Given the description of an element on the screen output the (x, y) to click on. 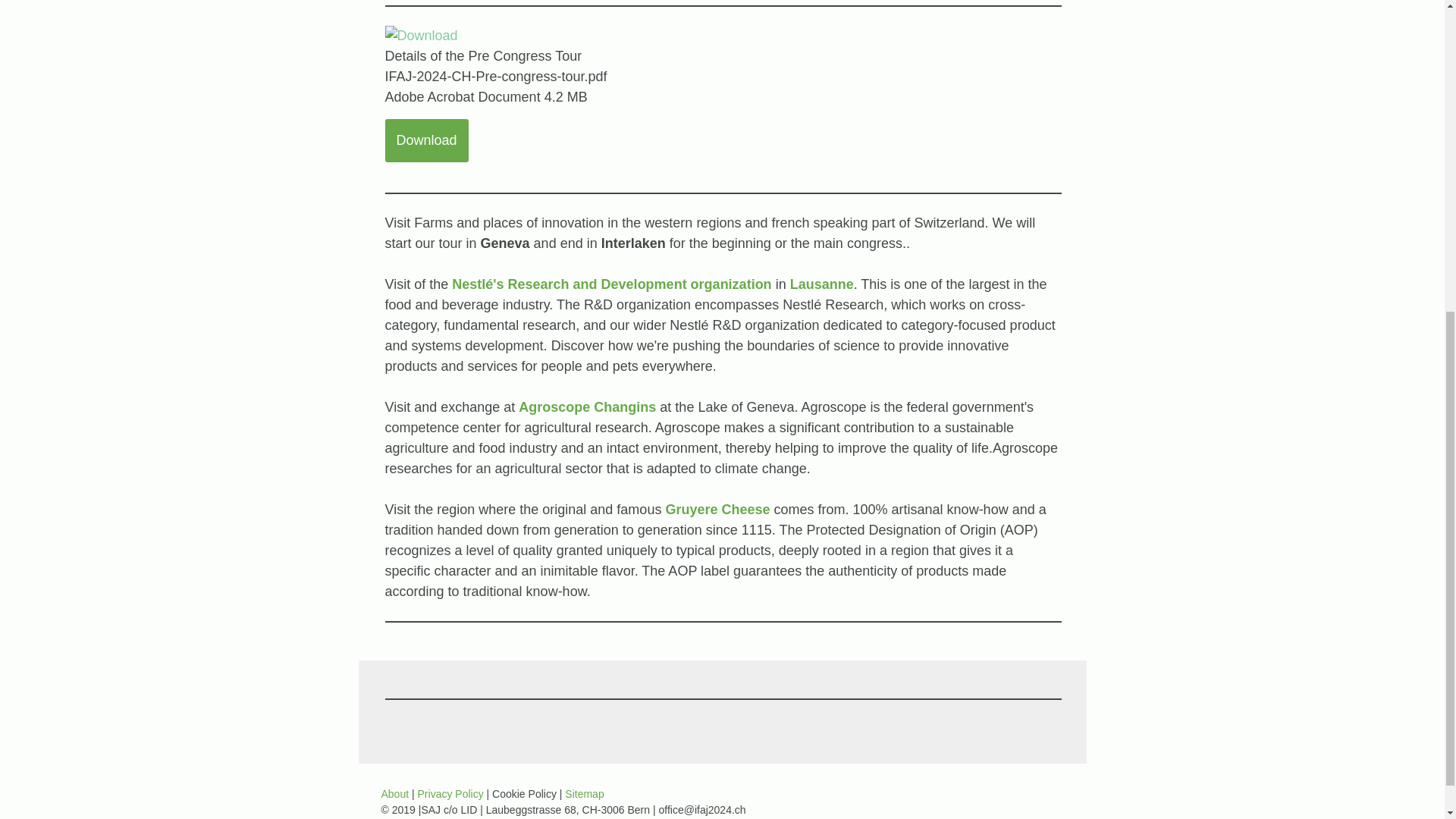
About (394, 793)
Download (426, 140)
Sitemap (584, 793)
Gruyere Cheese (717, 509)
Agroscope Changins (587, 406)
Privacy Policy (450, 793)
Lausanne (821, 283)
Cookie Policy (524, 793)
